Given the description of an element on the screen output the (x, y) to click on. 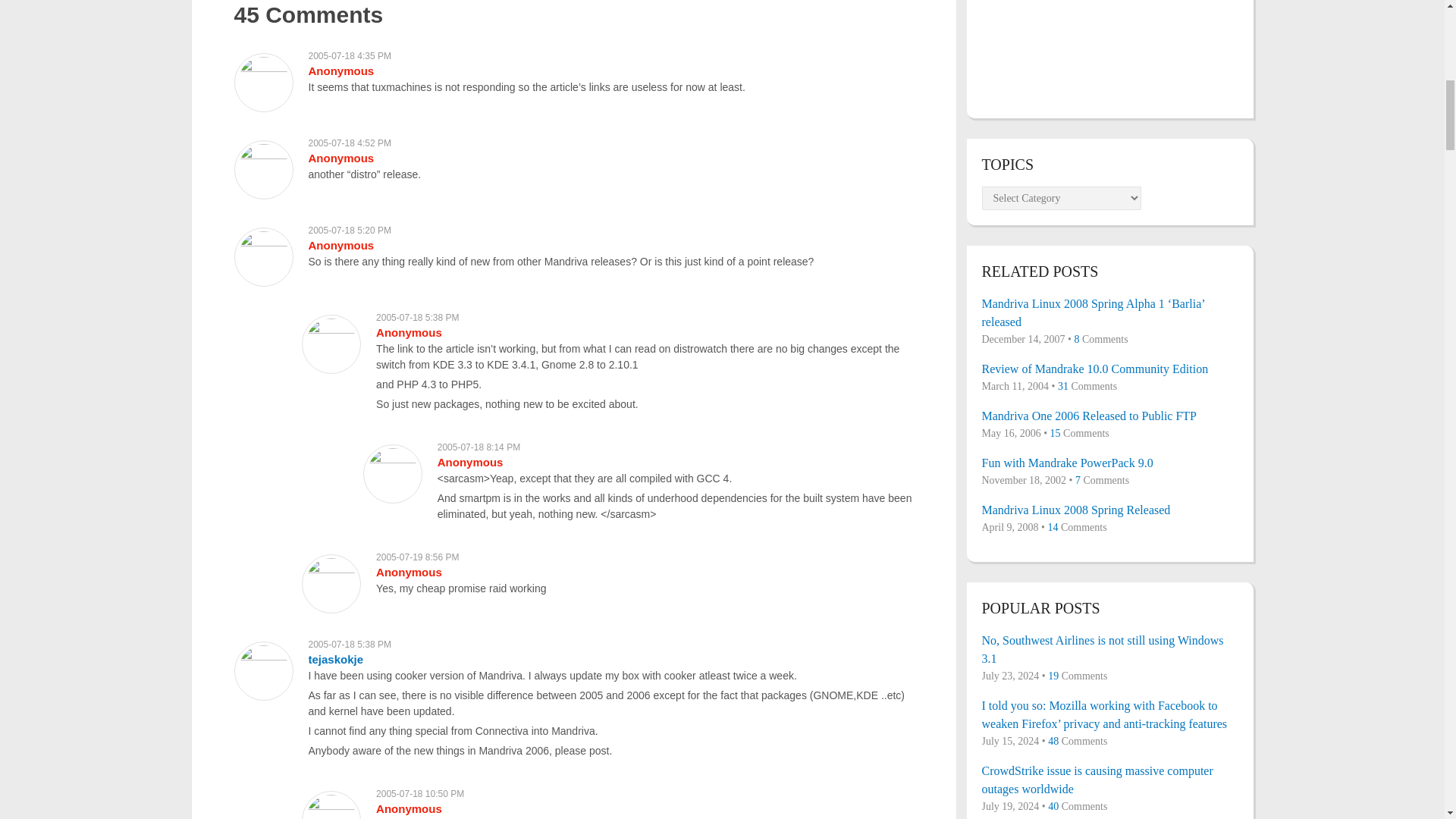
Anonymous (340, 157)
Anonymous (408, 808)
Anonymous (340, 245)
Anonymous (408, 332)
Anonymous (340, 70)
Anonymous (408, 571)
tejaskokje (334, 658)
Anonymous (470, 461)
